Given the description of an element on the screen output the (x, y) to click on. 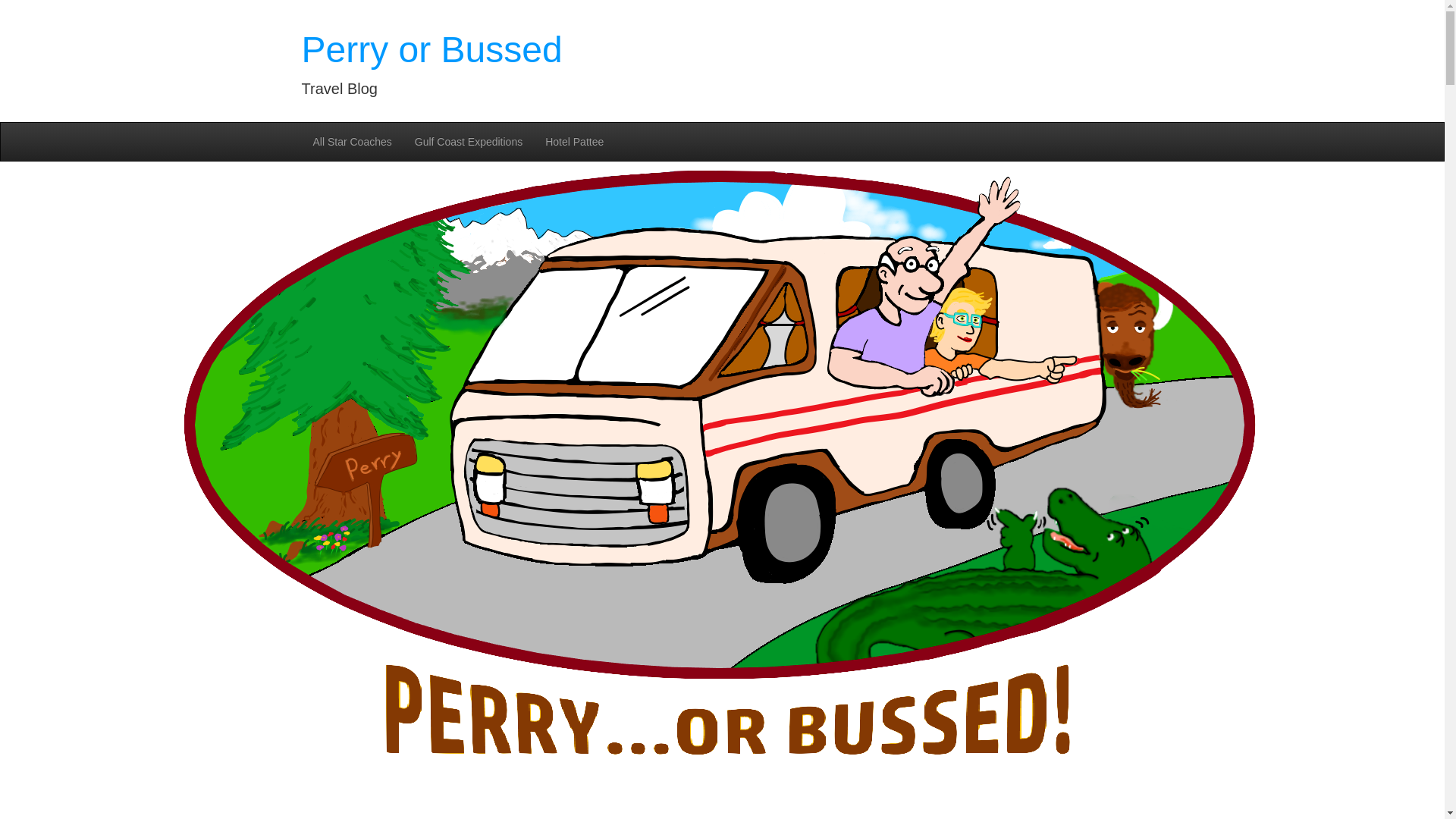
Gulf Coast Expeditions (468, 141)
Gulf Coast Expeditions (468, 141)
All Star Coaches (352, 141)
Hotel Pattee (574, 141)
Perry or Bussed (431, 49)
All Star Coaches (352, 141)
Hotel Pattee (574, 141)
